Given the description of an element on the screen output the (x, y) to click on. 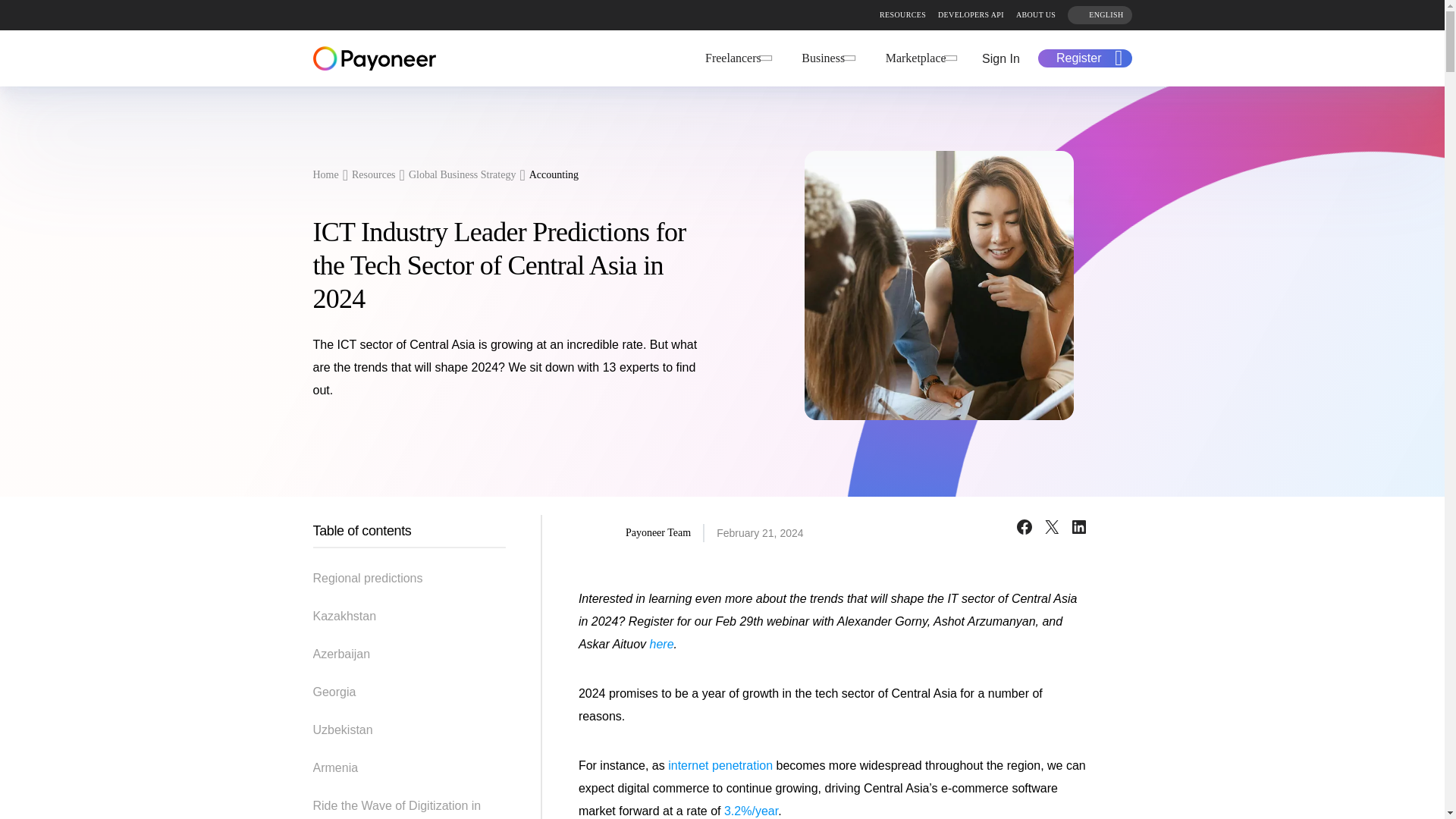
ENGLISH (1099, 14)
Freelancers (736, 58)
ABOUT US (1035, 14)
DEVELOPERS API (970, 14)
RESOURCES (902, 14)
